Given the description of an element on the screen output the (x, y) to click on. 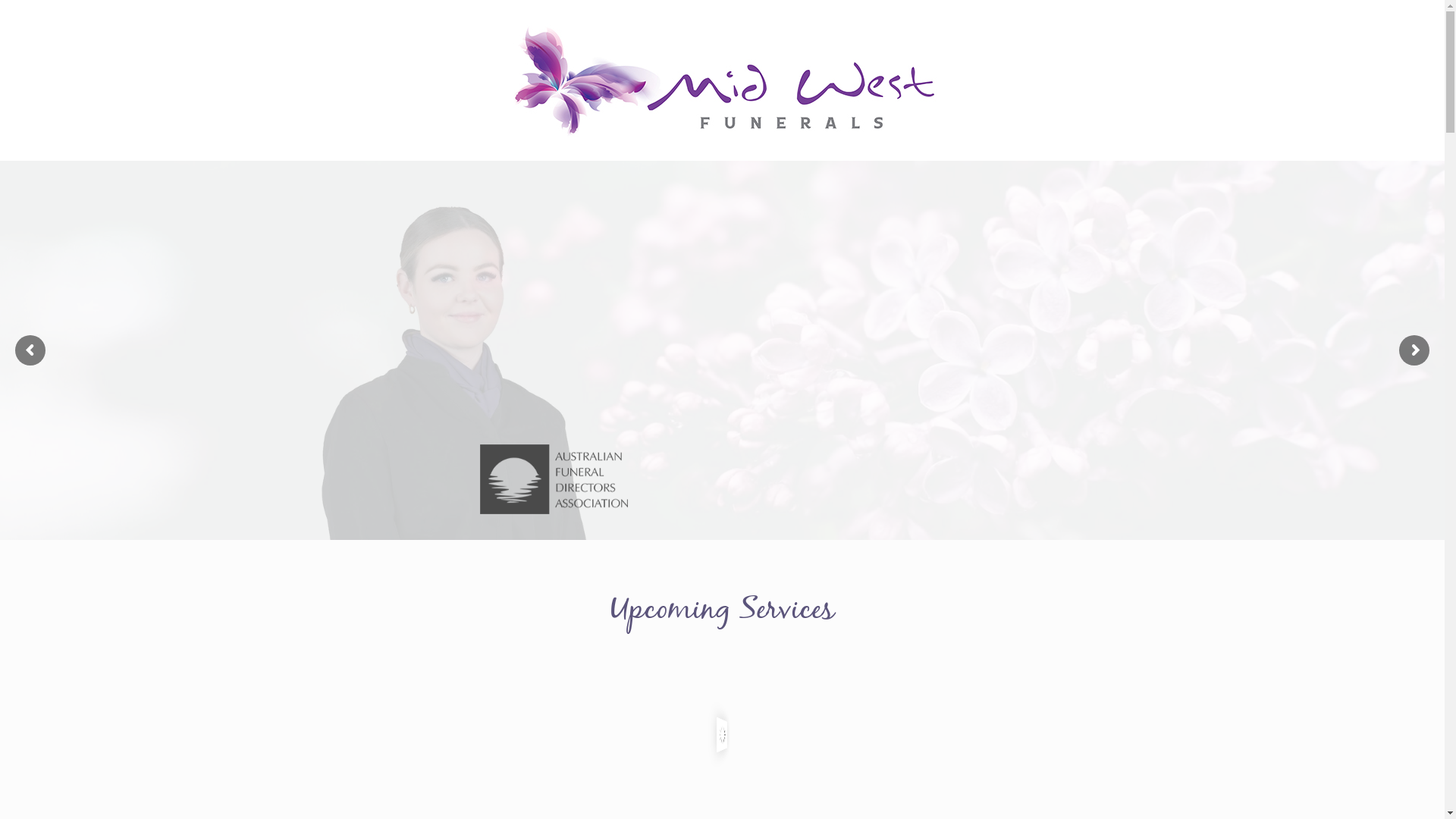
Mid West Funerals Element type: hover (722, 80)
